Given the description of an element on the screen output the (x, y) to click on. 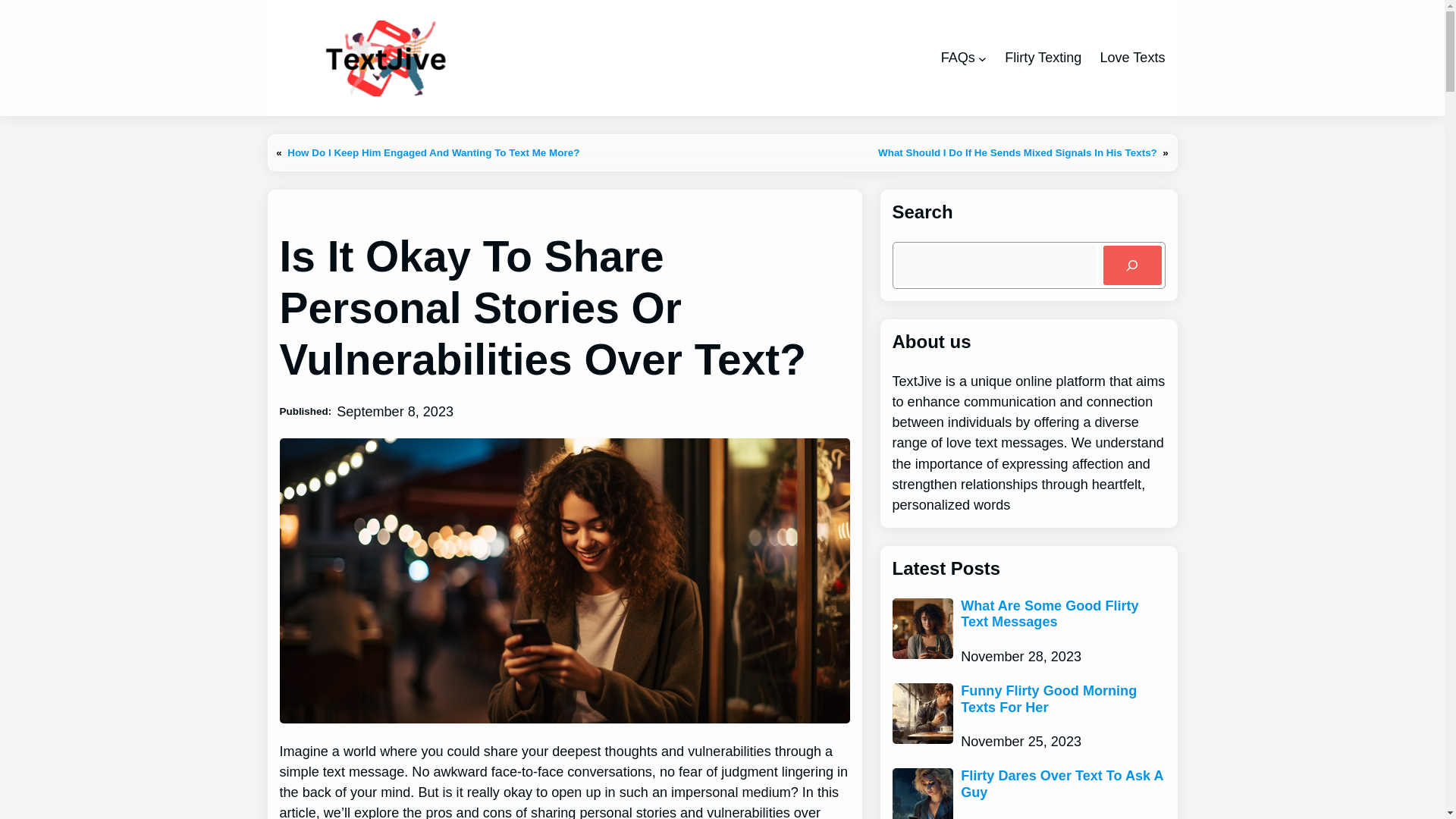
Love Texts (1131, 57)
FAQs (957, 57)
Flirty Texting (1042, 57)
How Do I Keep Him Engaged And Wanting To Text Me More? (432, 152)
What Should I Do If He Sends Mixed Signals In His Texts? (1017, 152)
